Given the description of an element on the screen output the (x, y) to click on. 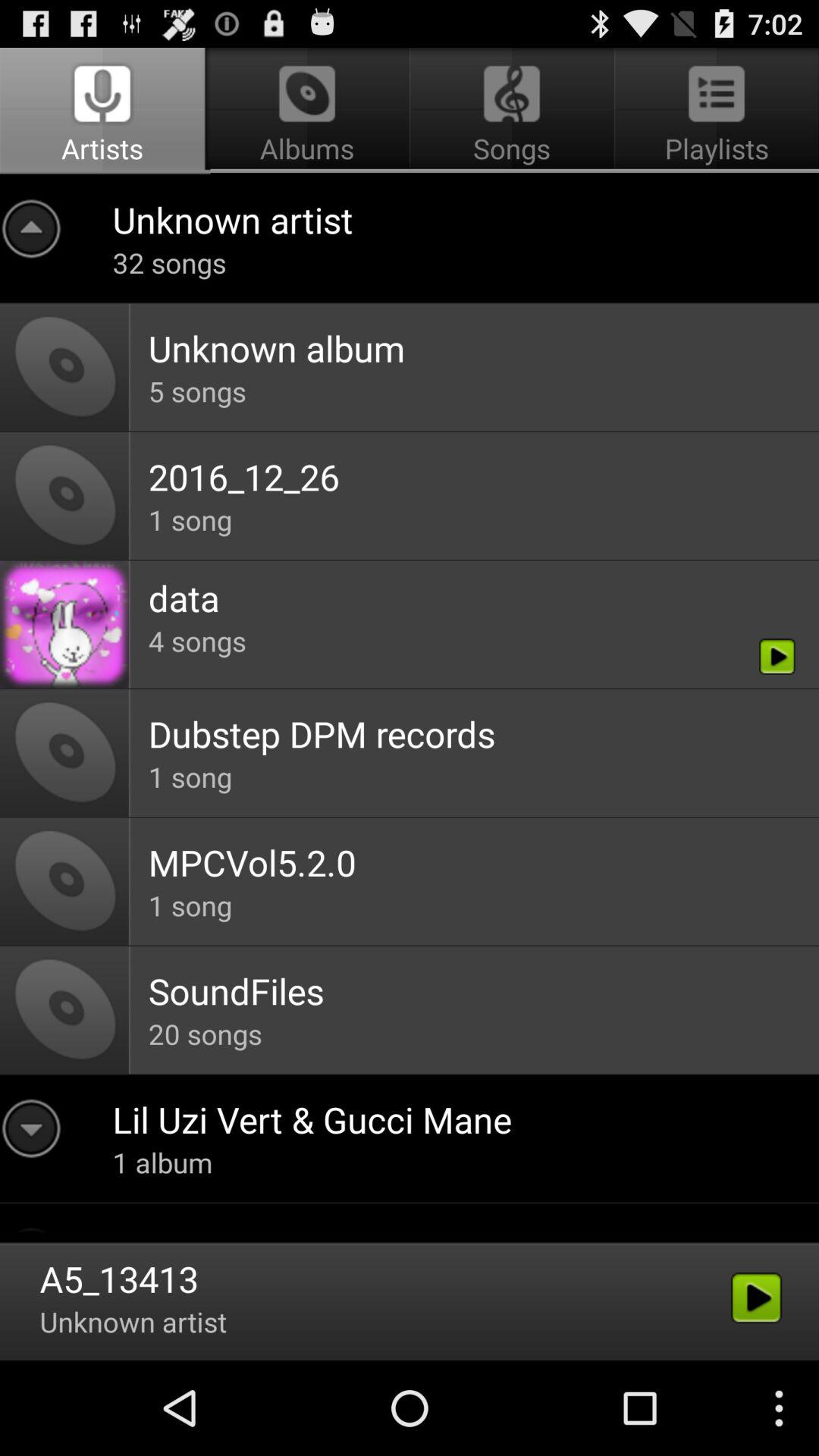
click on the button which is next to the songs (714, 111)
click on the play icon in the bottom right of the web page above three horizontal dots (756, 1298)
select the tab songs on the web page (511, 111)
